Given the description of an element on the screen output the (x, y) to click on. 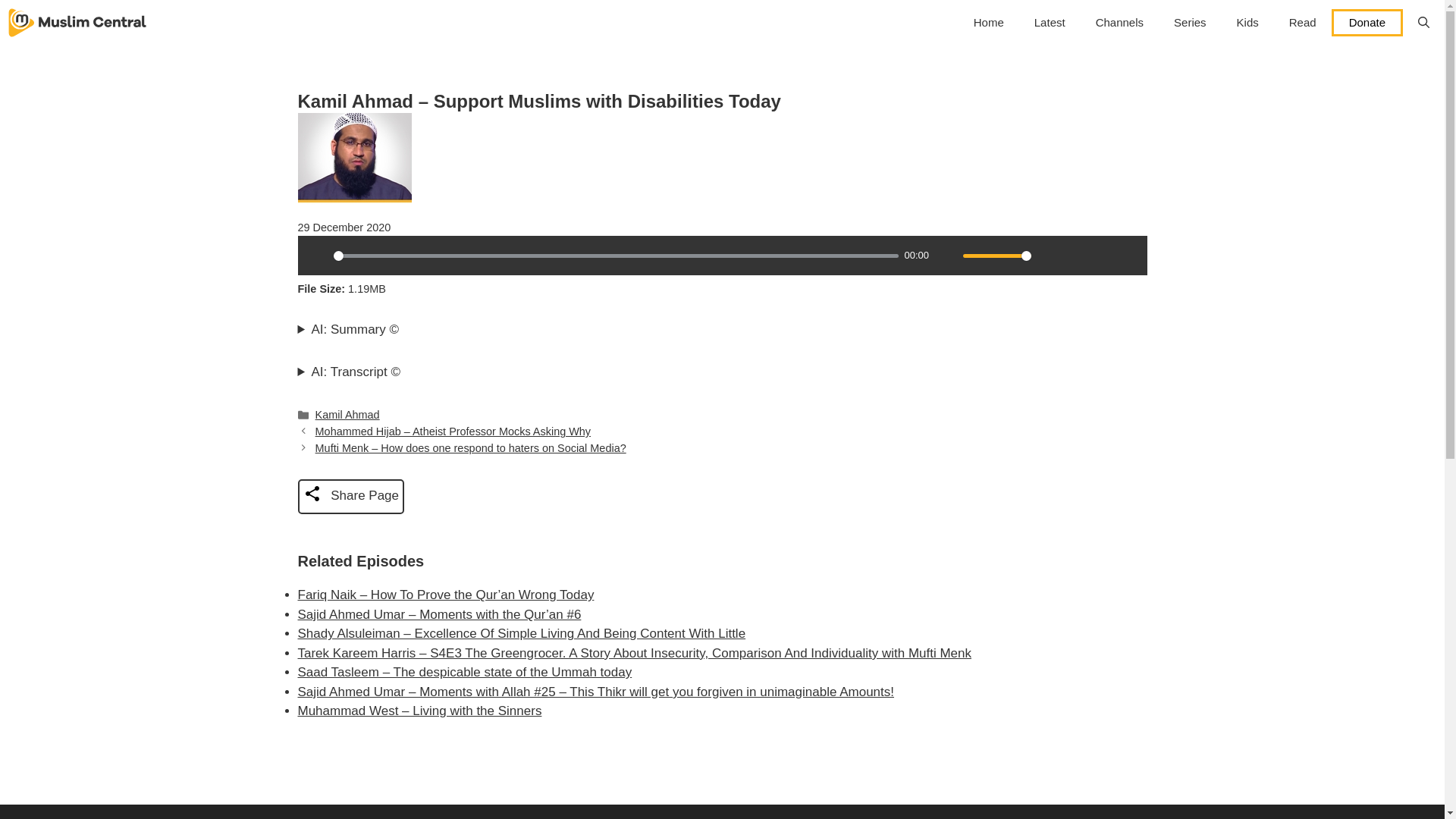
Mute (946, 255)
1 (996, 255)
Rewind 10s (1101, 255)
Donate (1367, 22)
0 (615, 255)
Latest (1049, 22)
Forward 10s (1126, 255)
Download (1074, 255)
Home (988, 22)
Read (1303, 22)
